Given the description of an element on the screen output the (x, y) to click on. 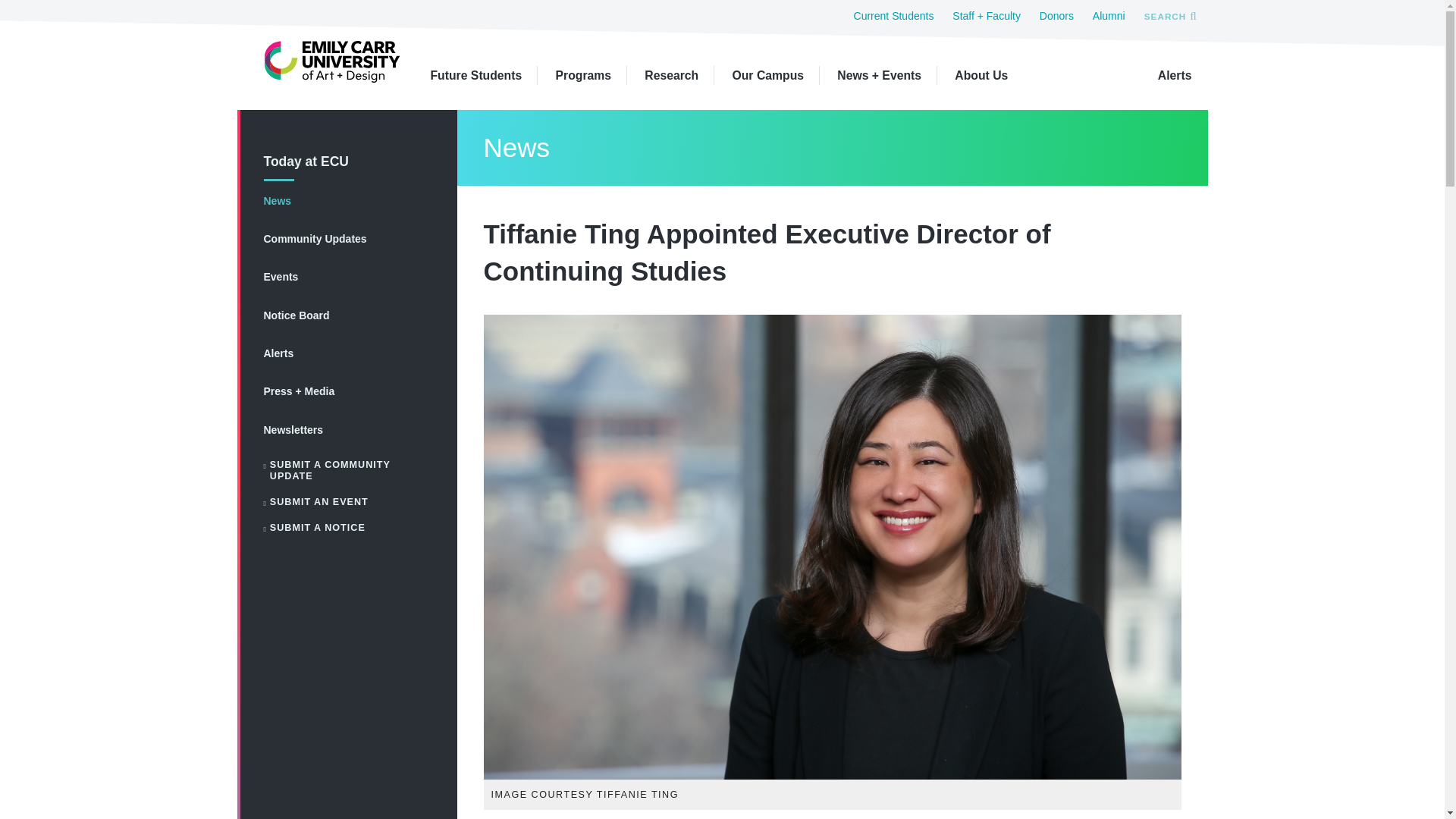
SEARCH (1169, 15)
Current Students (893, 15)
Donors (1056, 15)
Alumni (1109, 15)
